Given the description of an element on the screen output the (x, y) to click on. 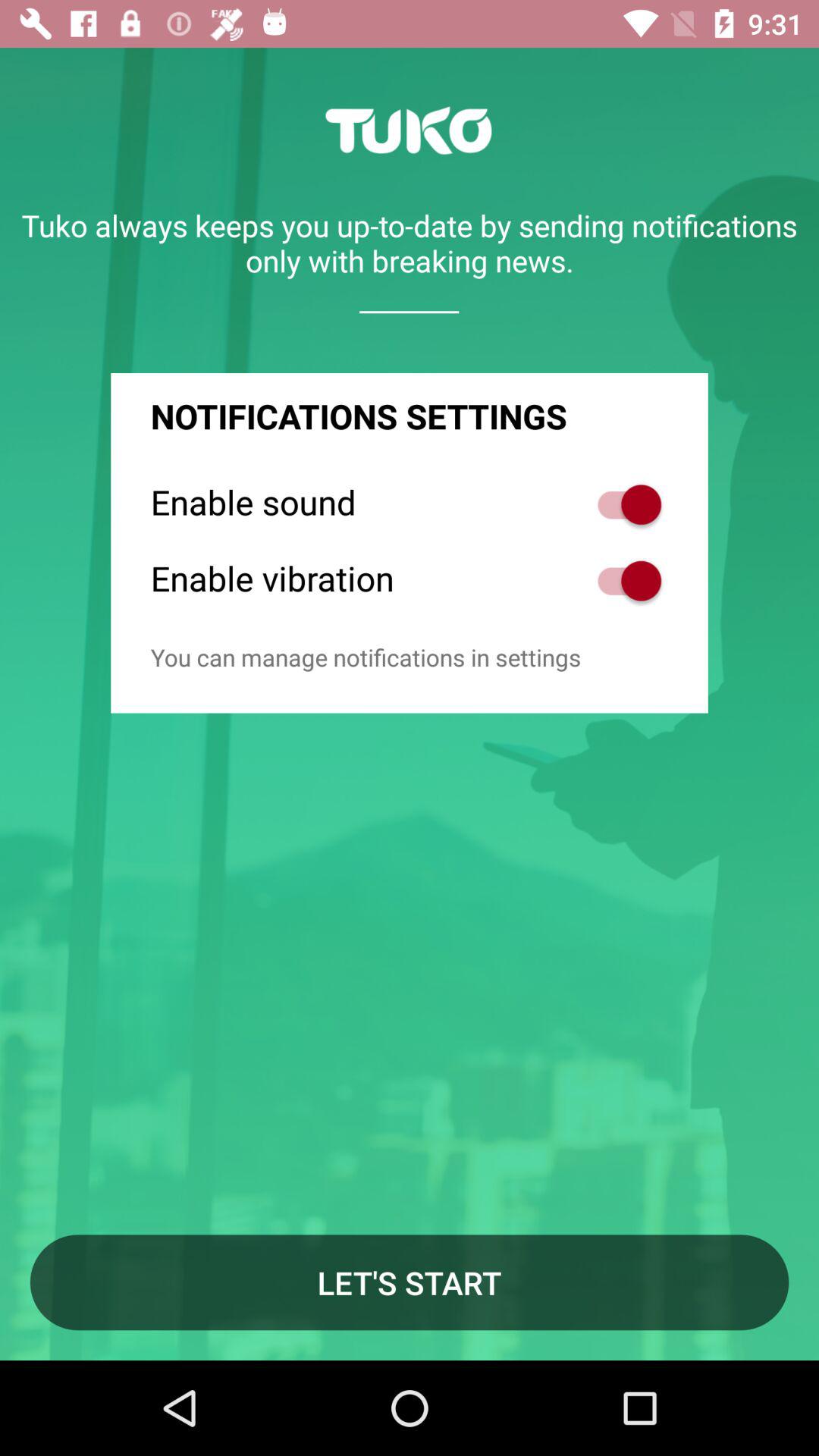
toggle enable vibration (621, 580)
